Given the description of an element on the screen output the (x, y) to click on. 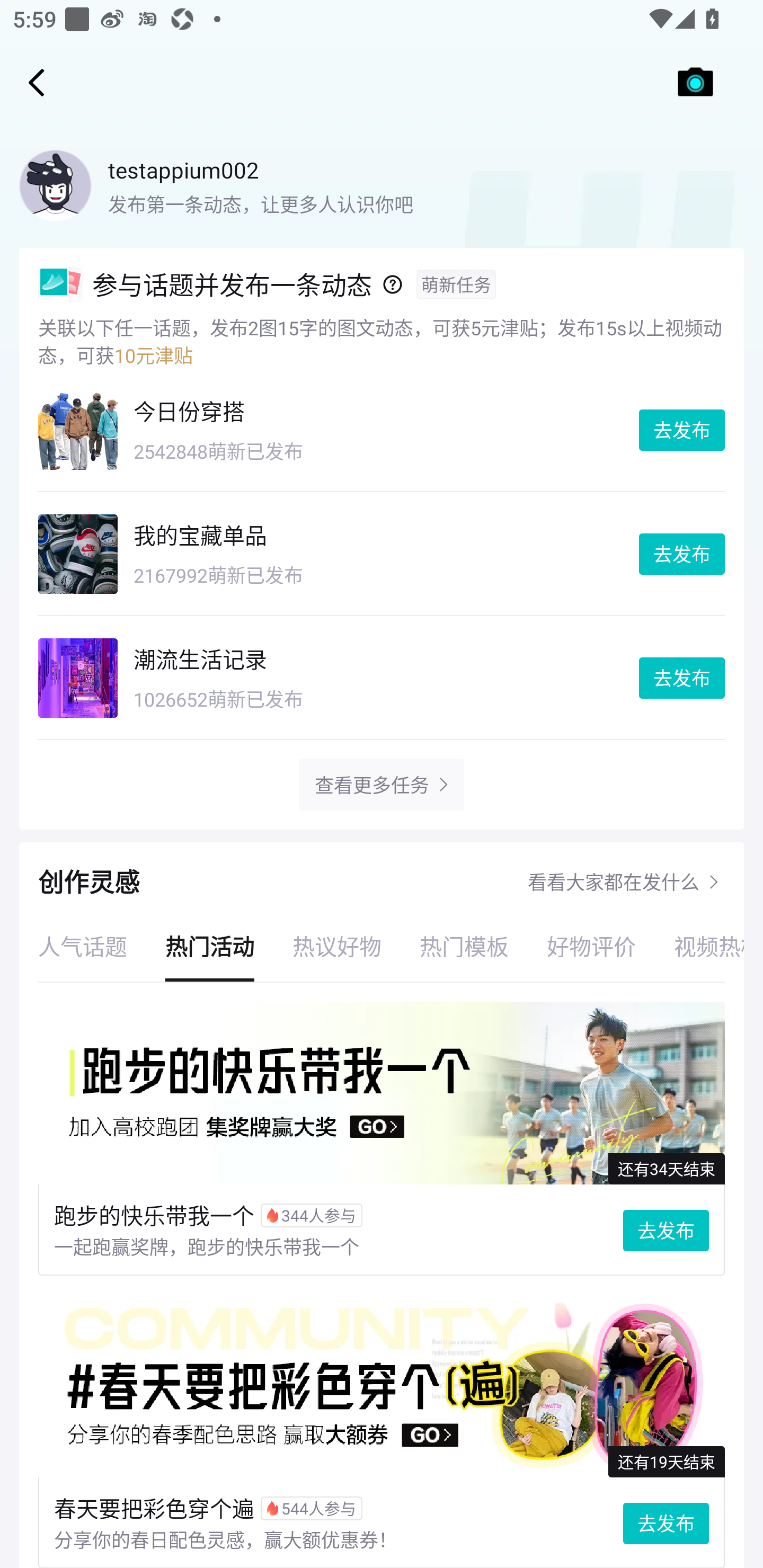
Navigate up (36, 82)
去发布 (681, 430)
去发布 (681, 554)
去发布 (681, 677)
查看更多任务 (371, 784)
人气话题 (82, 946)
热议好物 (336, 946)
热门模板 (463, 946)
好物评价 (590, 946)
视频热榜 (698, 946)
还有34天结束 跑步的快乐带我一个 344人参与 一起跑赢奖牌，跑步的快乐带我一个 去发布 (381, 1138)
还有19天结束 春天要把彩色穿个遍 544人参与 分享你的春日配色灵感，赢大额优惠券！ 去发布 (381, 1431)
